Given the description of an element on the screen output the (x, y) to click on. 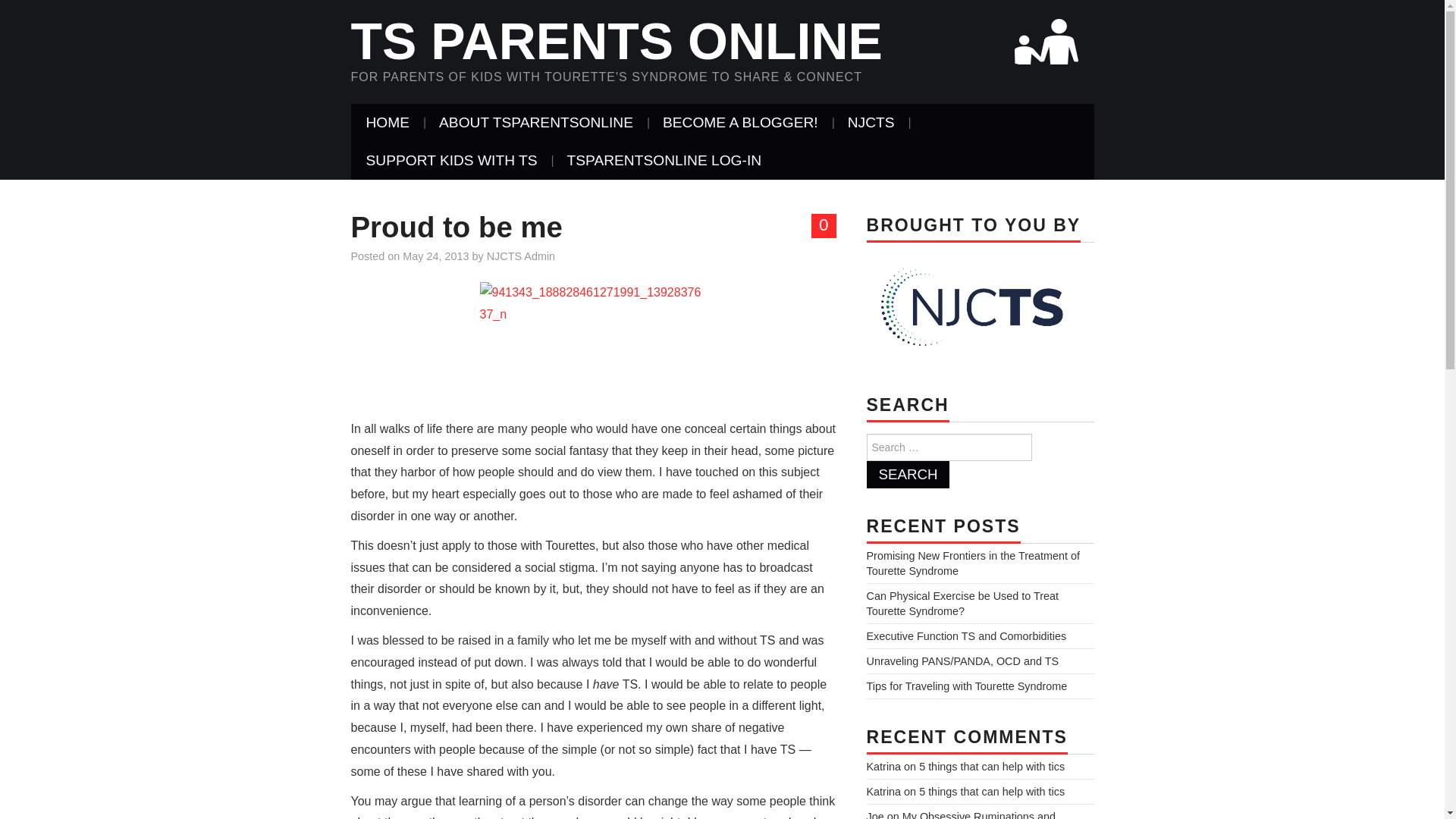
ABOUT TSPARENTSONLINE (535, 122)
Search (907, 474)
TS PARENTS ONLINE (616, 40)
5 things that can help with tics (991, 766)
NJCTS (871, 122)
Executive Function TS and Comorbidities (965, 635)
View all posts by NJCTS Admin (520, 256)
Tips for Traveling with Tourette Syndrome (966, 686)
May 24, 2013 (435, 256)
Search for: (948, 447)
TSPARENTSONLINE LOG-IN (664, 160)
5 things that can help with tics (991, 791)
0 (822, 225)
Search (907, 474)
Can Physical Exercise be Used to Treat Tourette Syndrome? (962, 603)
